Given the description of an element on the screen output the (x, y) to click on. 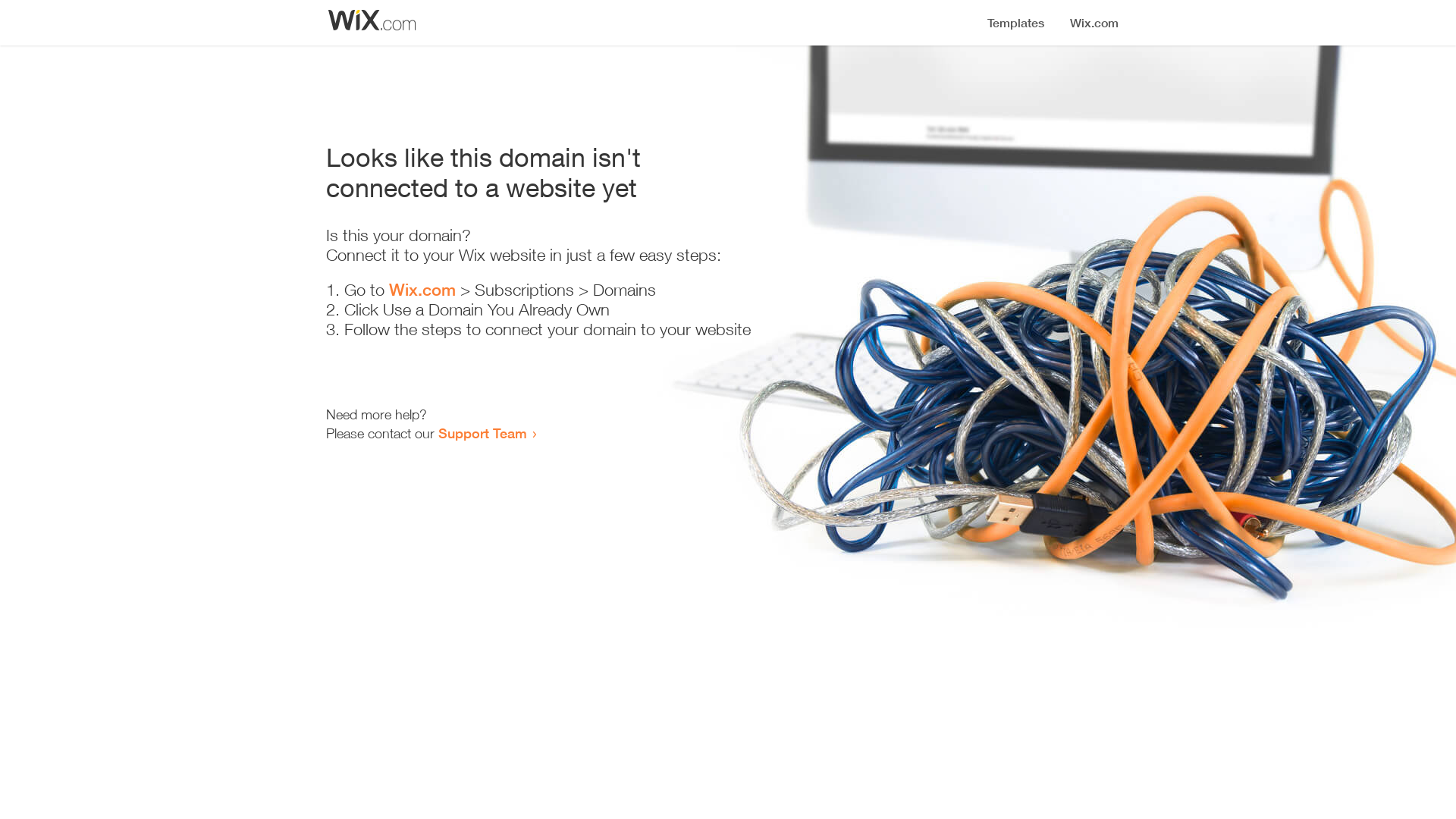
Wix.com Element type: text (422, 289)
Support Team Element type: text (482, 432)
